Given the description of an element on the screen output the (x, y) to click on. 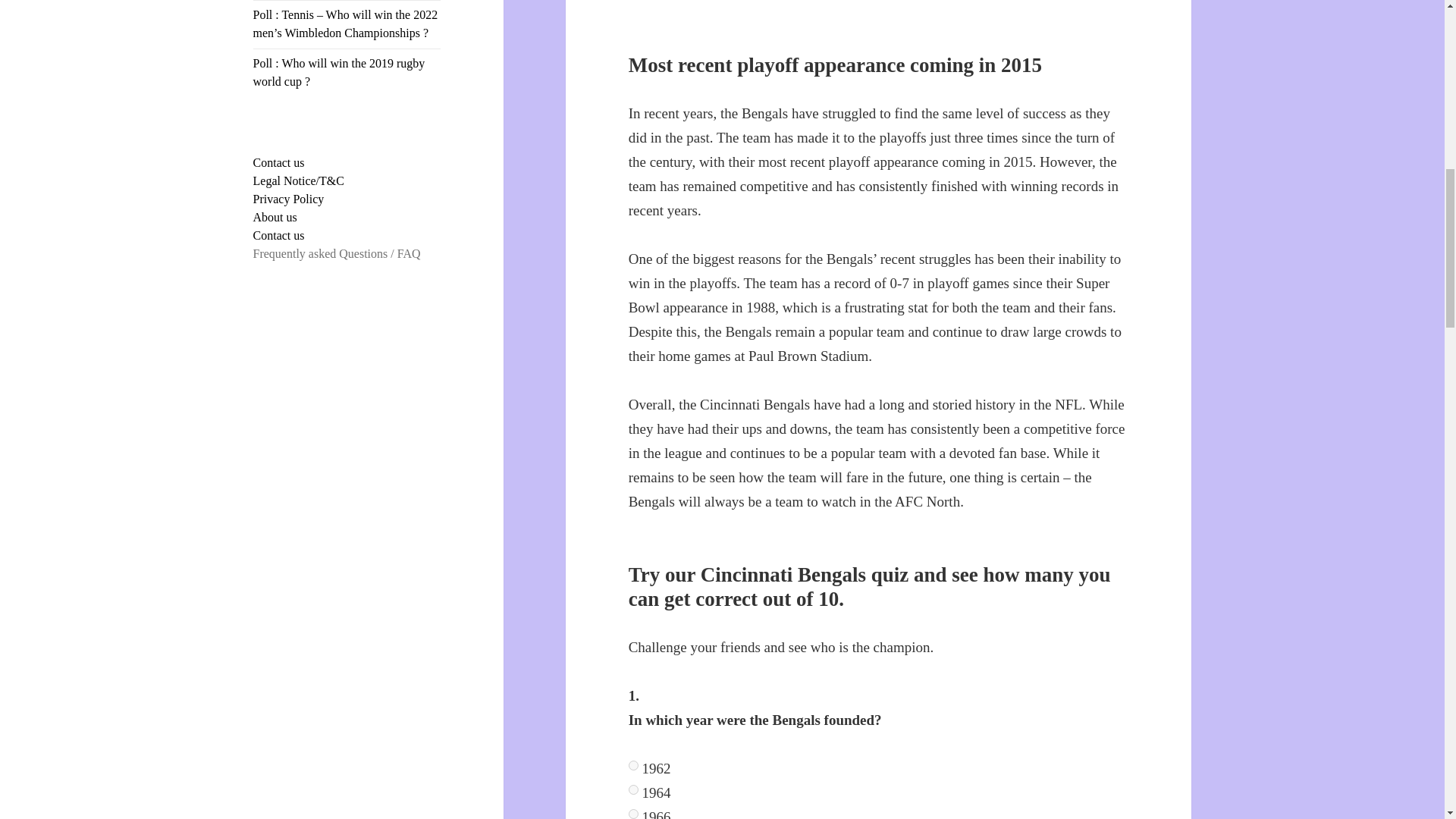
2 (633, 814)
0 (633, 765)
1 (633, 789)
